Given the description of an element on the screen output the (x, y) to click on. 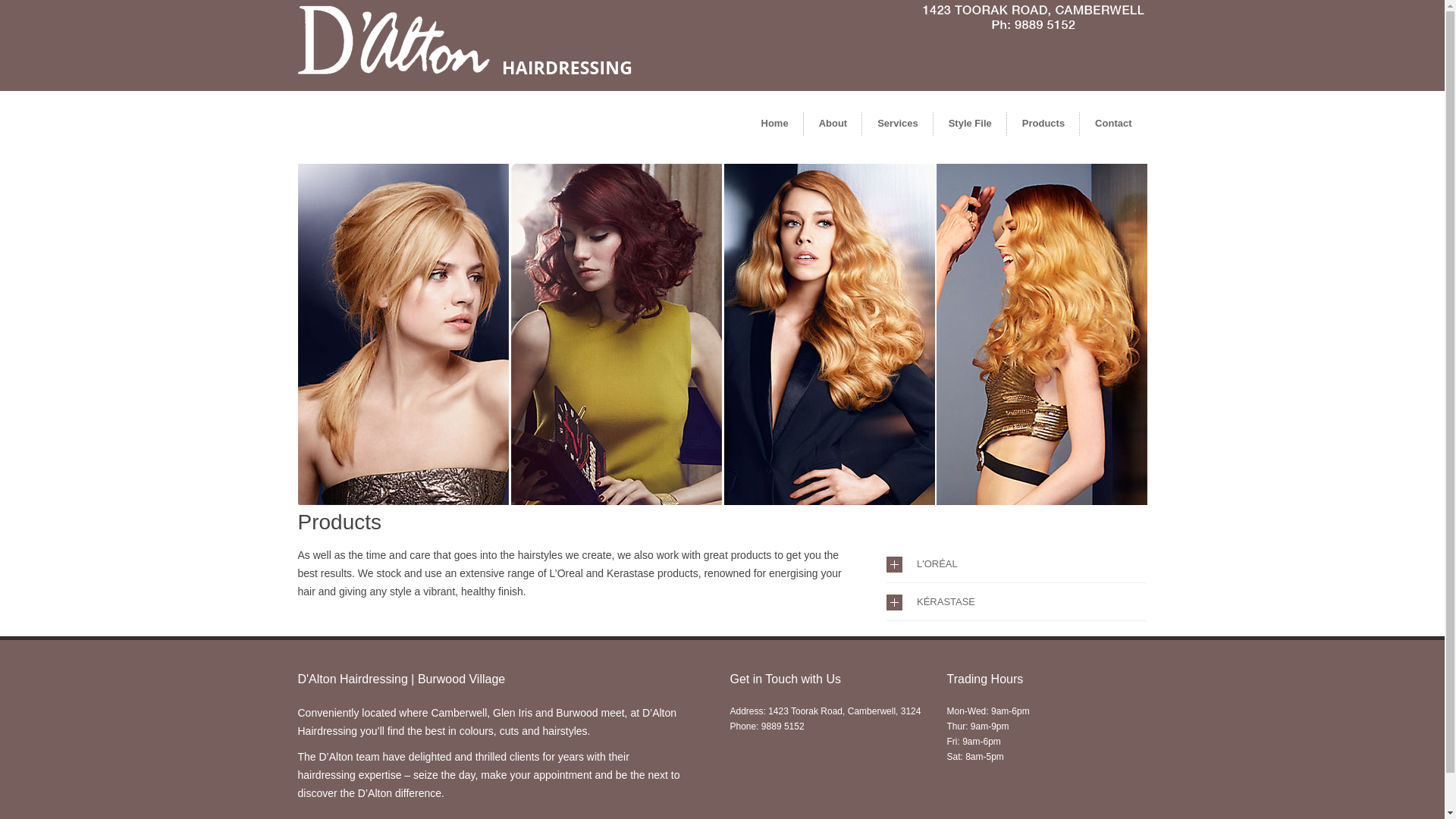
Services Element type: text (897, 123)
Contact Element type: text (1112, 123)
About Element type: text (832, 123)
Style File Element type: text (970, 123)
Home Element type: text (774, 123)
Products Element type: text (1043, 123)
